Given the description of an element on the screen output the (x, y) to click on. 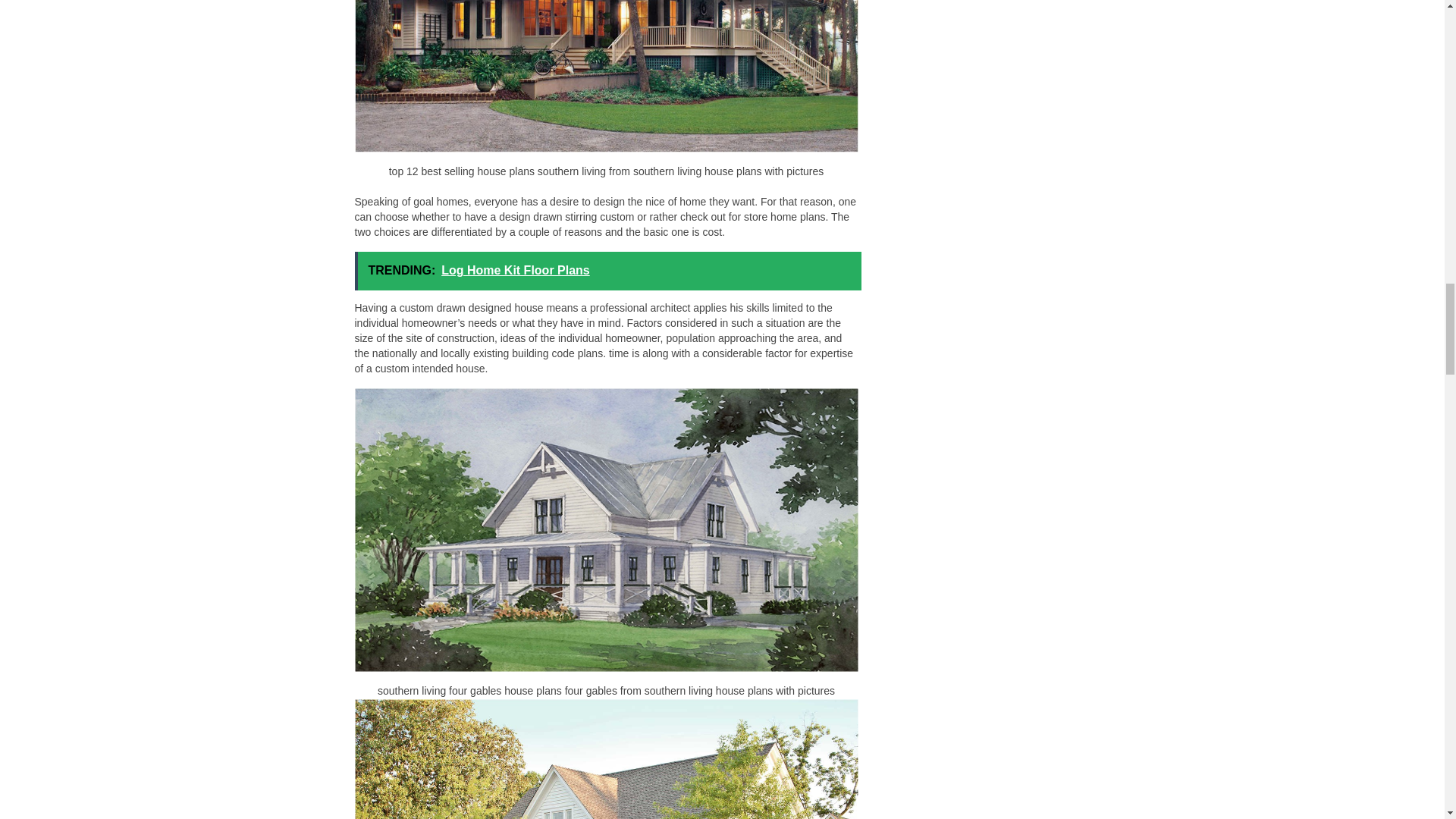
17 house plans with porches southern living (607, 759)
top 12 best selling house plans southern living (607, 76)
TRENDING:  Log Home Kit Floor Plans (608, 270)
